Given the description of an element on the screen output the (x, y) to click on. 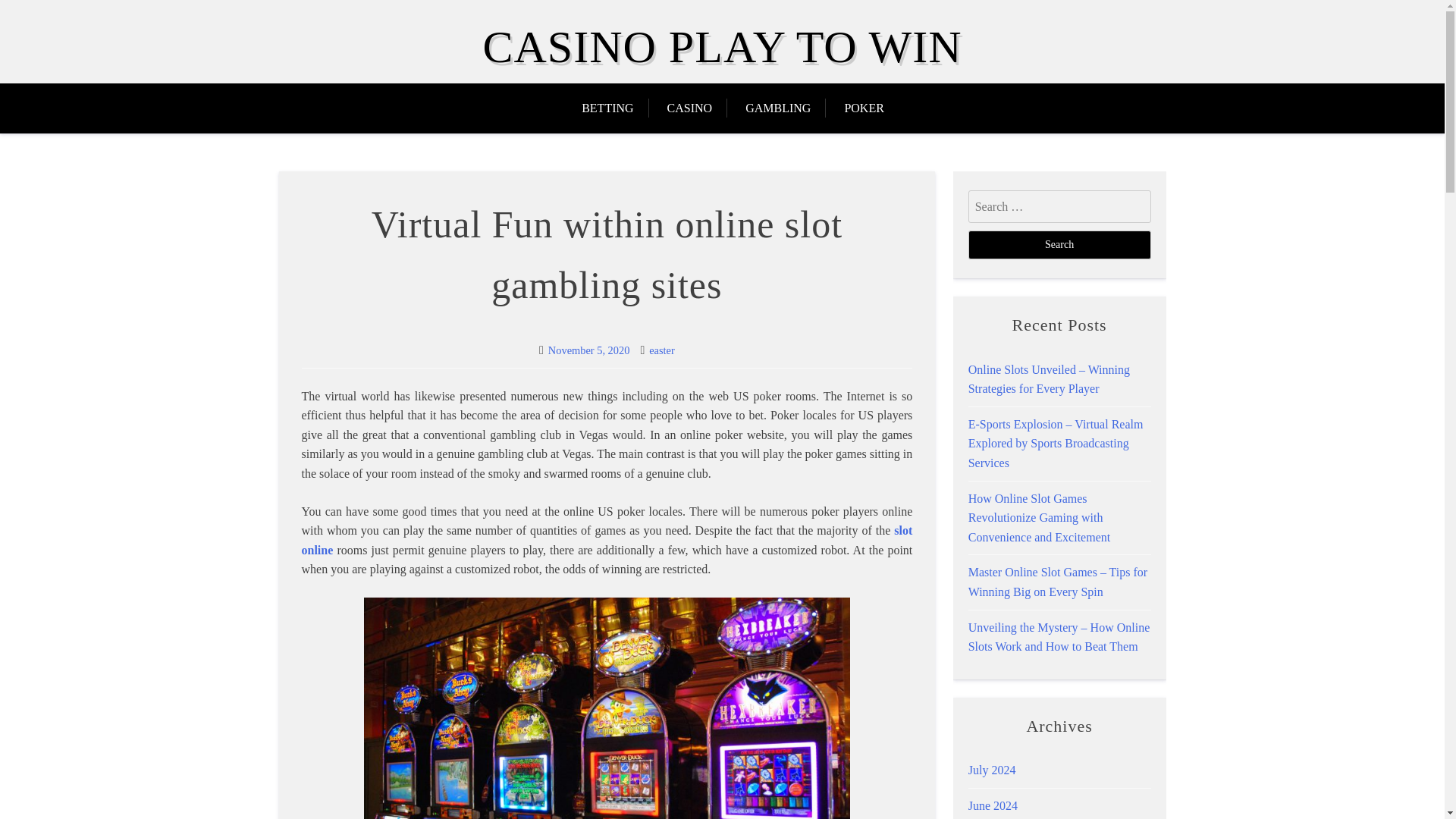
Search (1059, 244)
CASINO (690, 108)
GAMBLING (777, 108)
July 2024 (992, 769)
Search (1059, 244)
June 2024 (992, 805)
November 5, 2020 (589, 349)
easter (662, 349)
BETTING (613, 108)
Search (1059, 244)
CASINO PLAY TO WIN (720, 47)
POKER (863, 108)
slot online (606, 540)
